Given the description of an element on the screen output the (x, y) to click on. 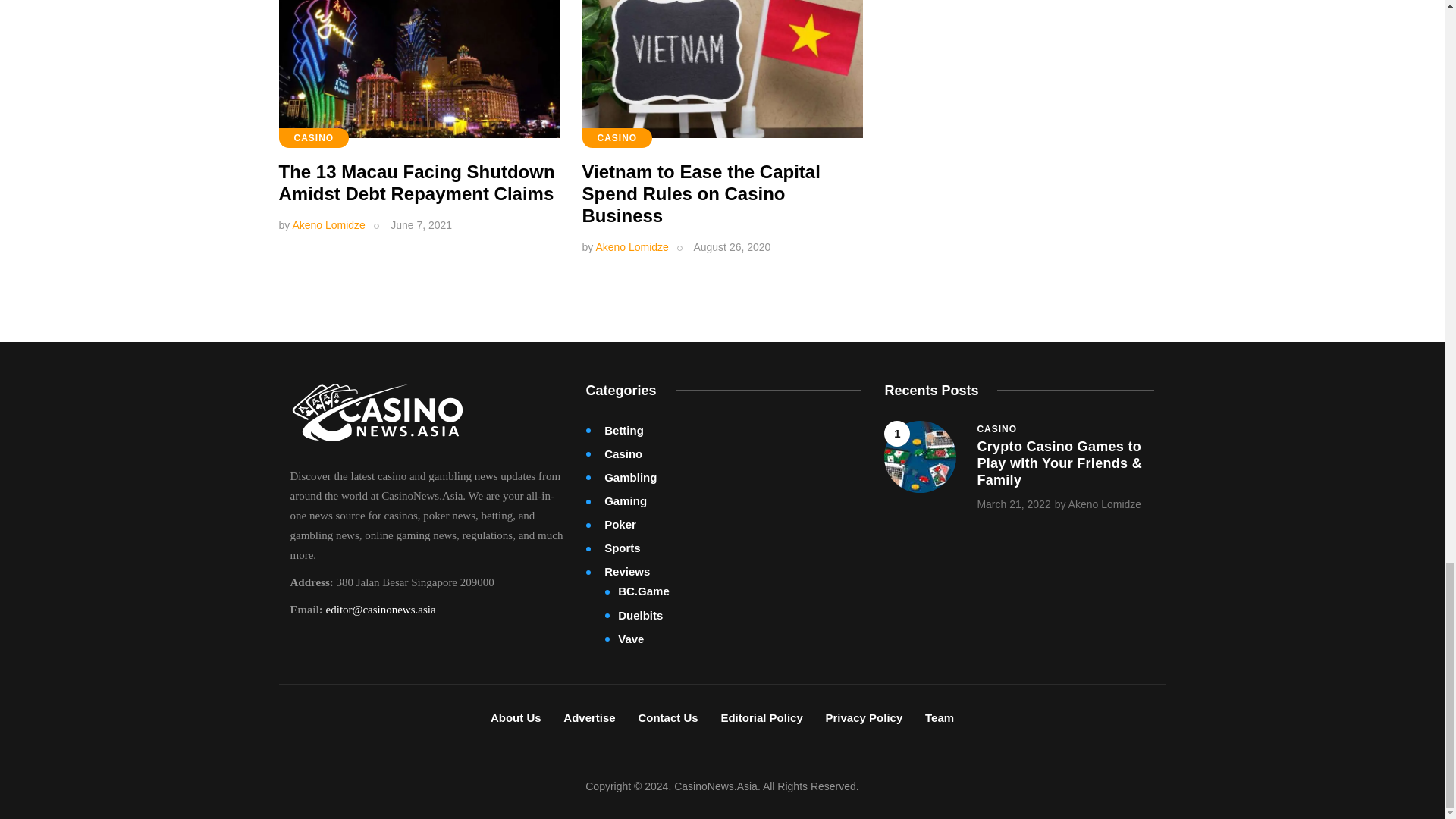
Casino News.Asia -Footer Logo (376, 412)
View all posts in Casino (996, 429)
